Given the description of an element on the screen output the (x, y) to click on. 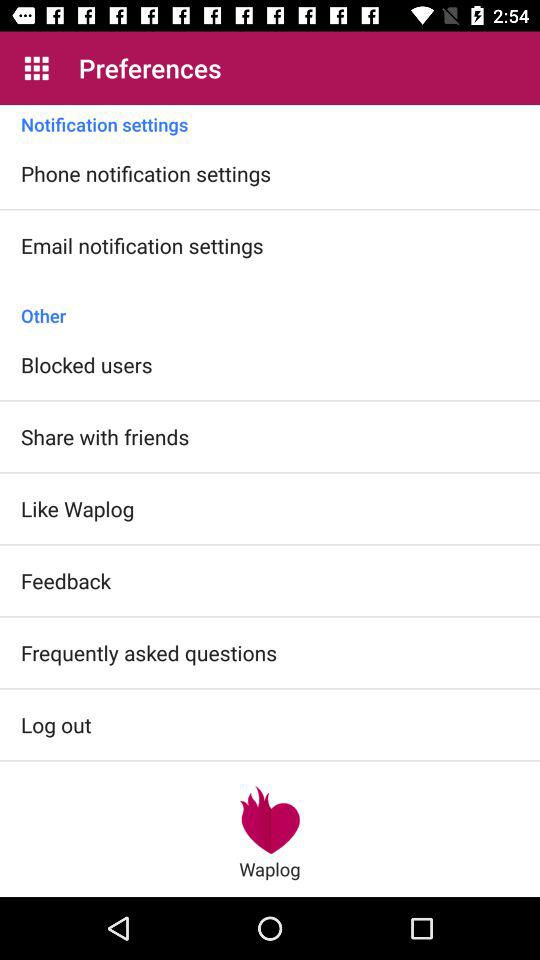
flip to blocked users icon (86, 364)
